Given the description of an element on the screen output the (x, y) to click on. 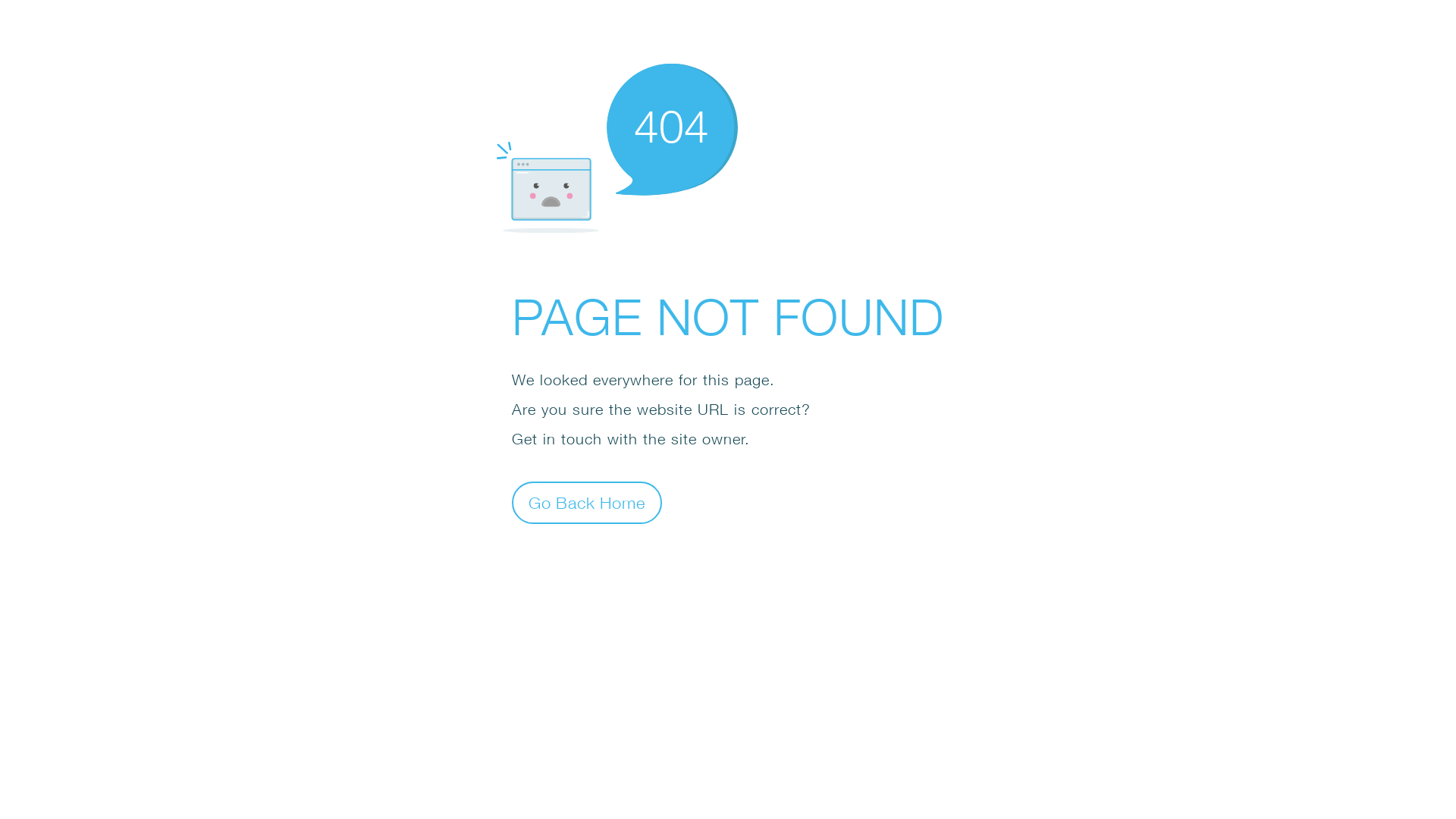
Go Back Home Element type: text (586, 502)
